Given the description of an element on the screen output the (x, y) to click on. 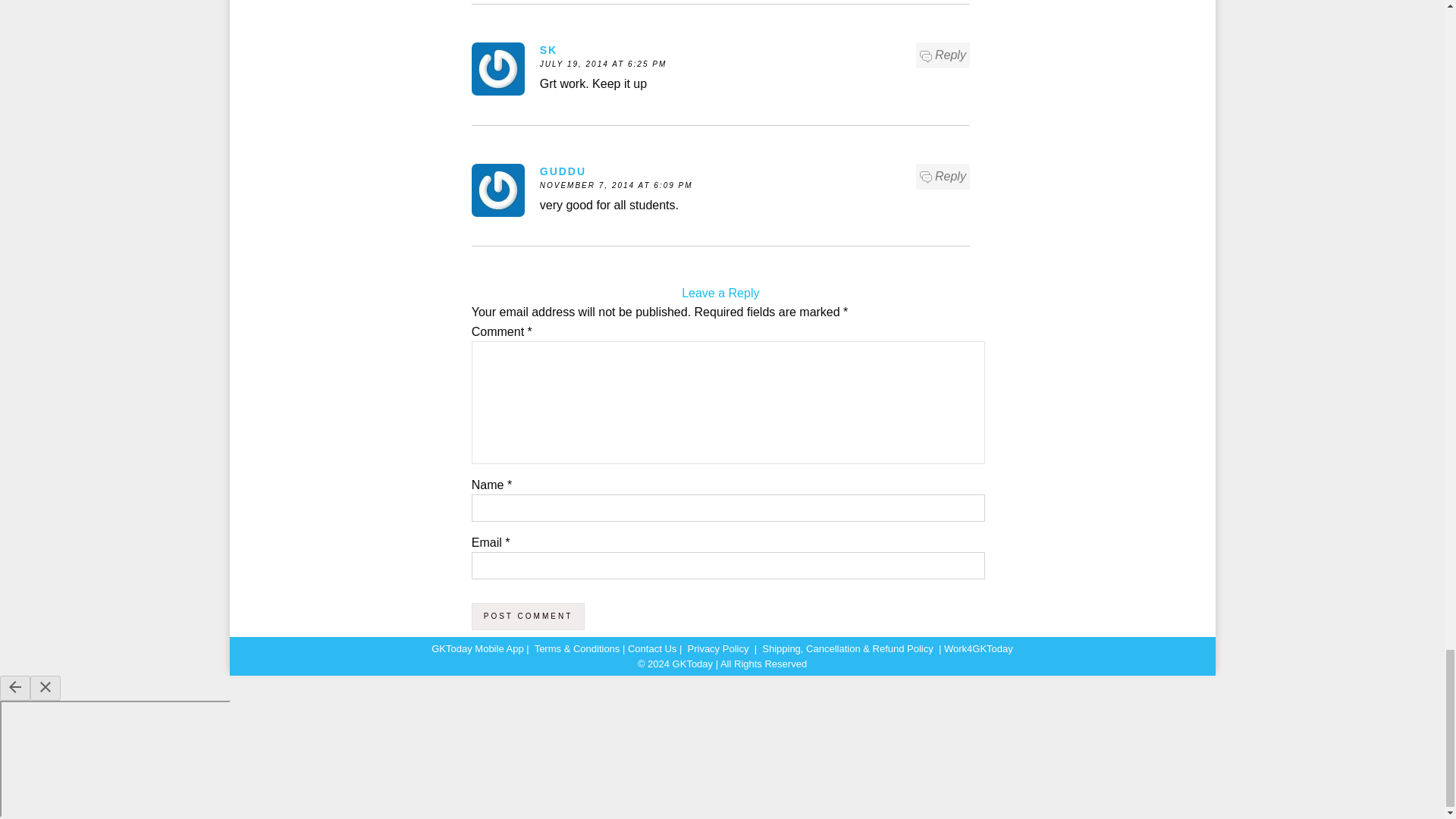
Reply (943, 54)
Post Comment (528, 615)
Post Comment (528, 615)
Reply (943, 176)
